Given the description of an element on the screen output the (x, y) to click on. 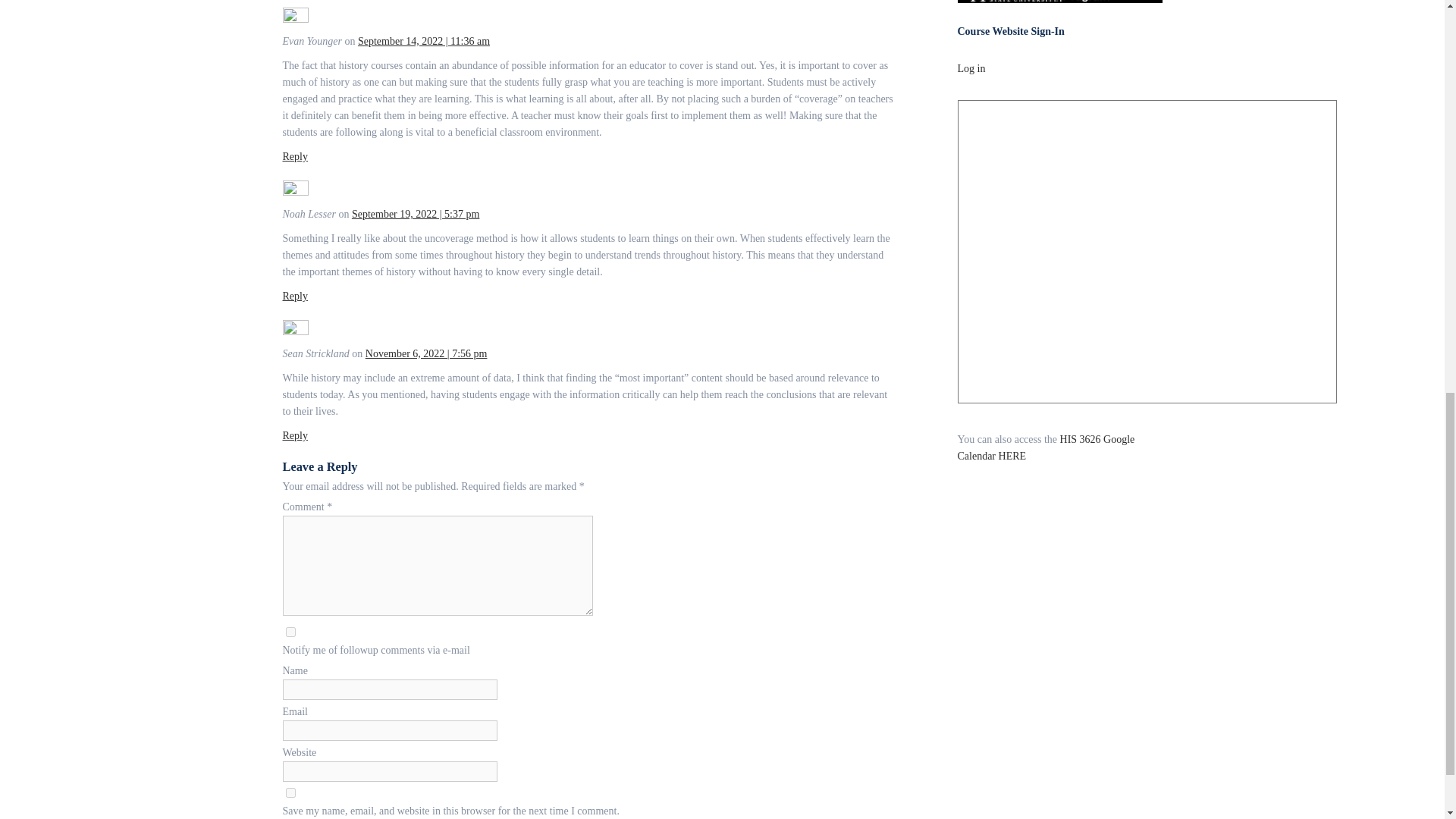
Reply (294, 435)
Reply (294, 156)
subscribe (290, 632)
Reply (294, 296)
yes (290, 792)
